Given the description of an element on the screen output the (x, y) to click on. 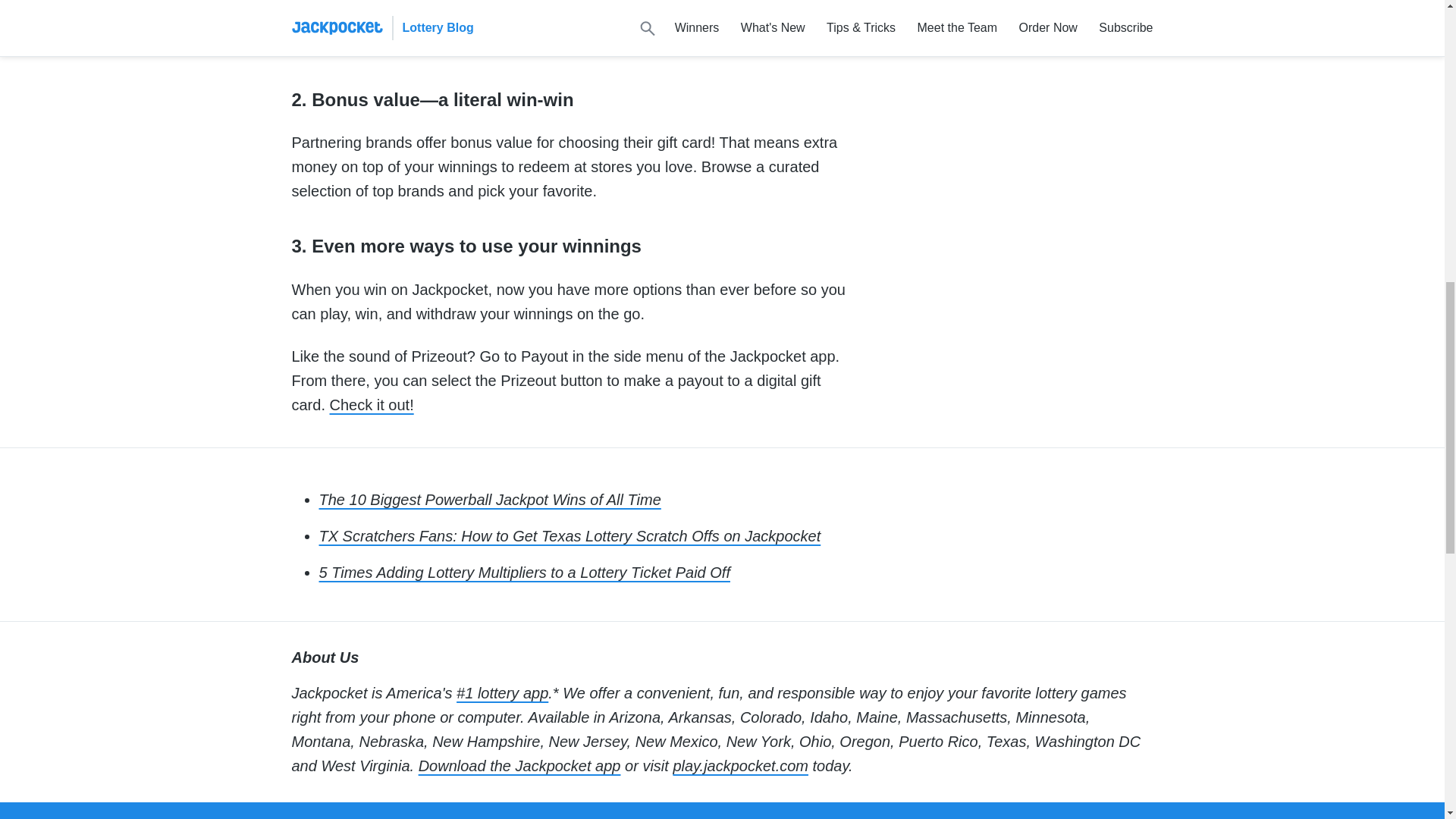
The 10 Biggest Powerball Jackpot Wins of All Time (489, 499)
Check it out! (371, 404)
Download the Jackpocket app (520, 765)
play.jackpocket.com (740, 765)
